Given the description of an element on the screen output the (x, y) to click on. 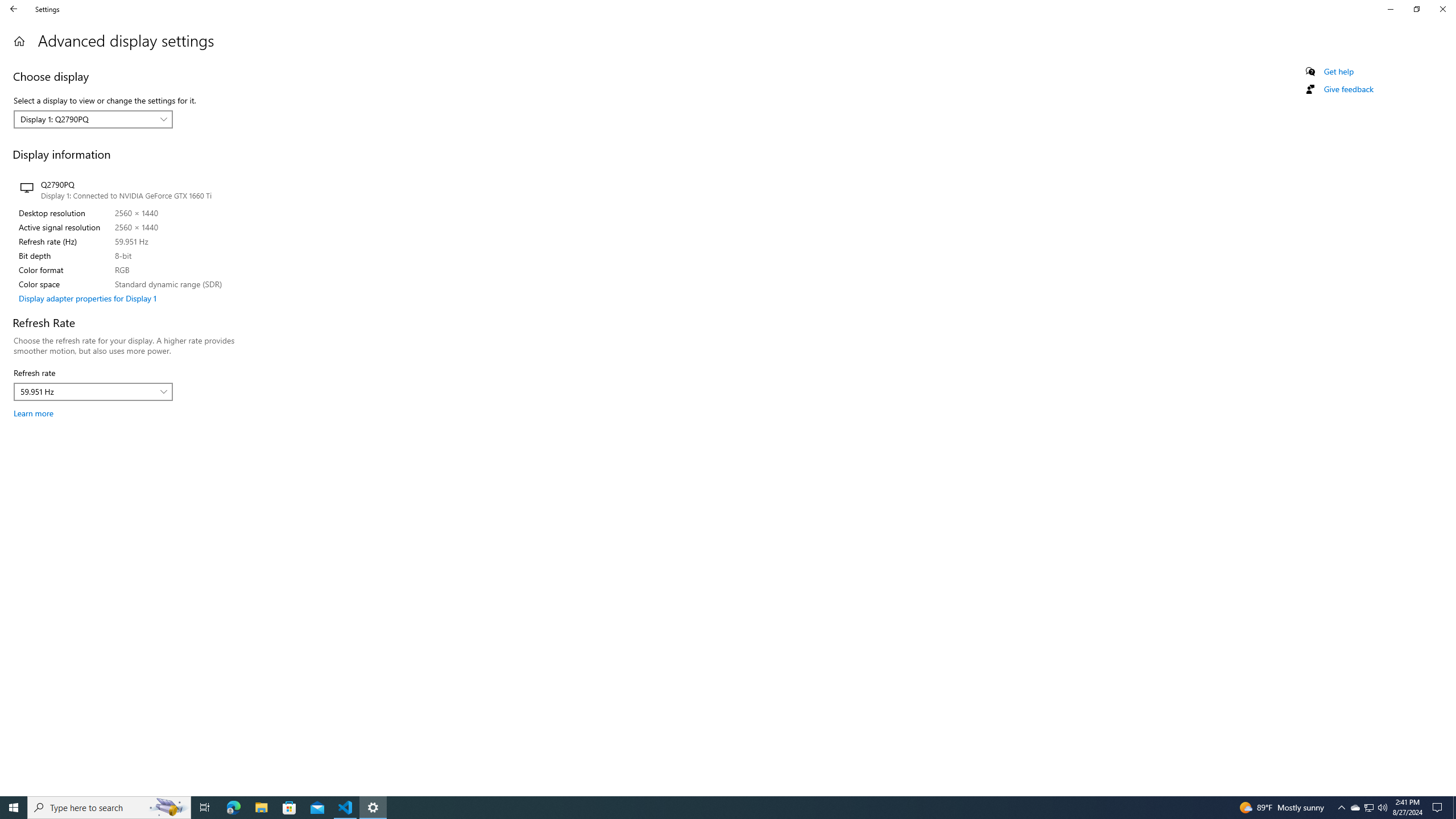
Display adapter properties for Display 1 (87, 298)
Give feedback (1348, 88)
Visual Studio Code - 1 running window (345, 807)
